Given the description of an element on the screen output the (x, y) to click on. 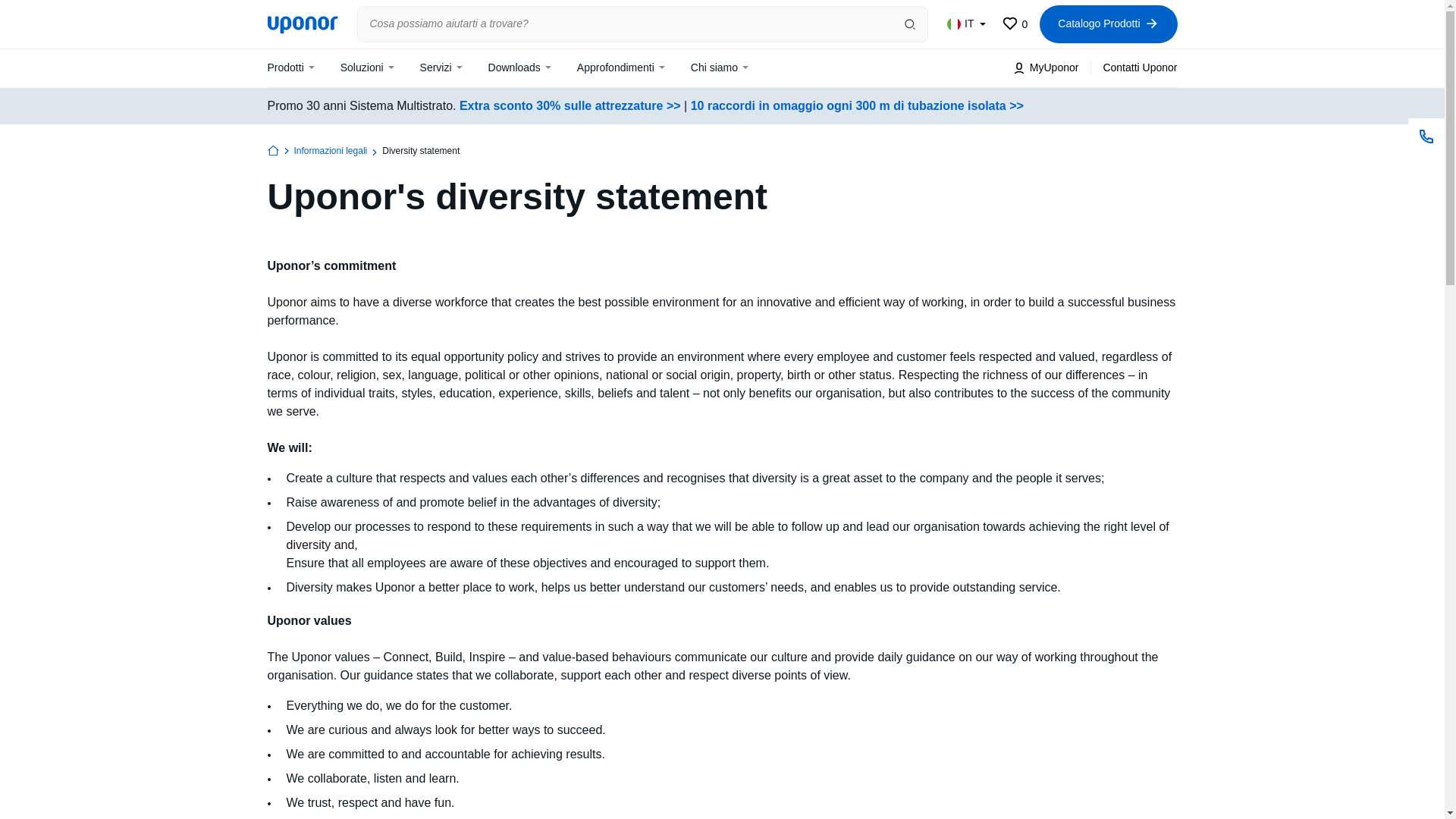
n n (301, 24)
Catalogo Prodotti (1014, 23)
IT (1107, 23)
